Given the description of an element on the screen output the (x, y) to click on. 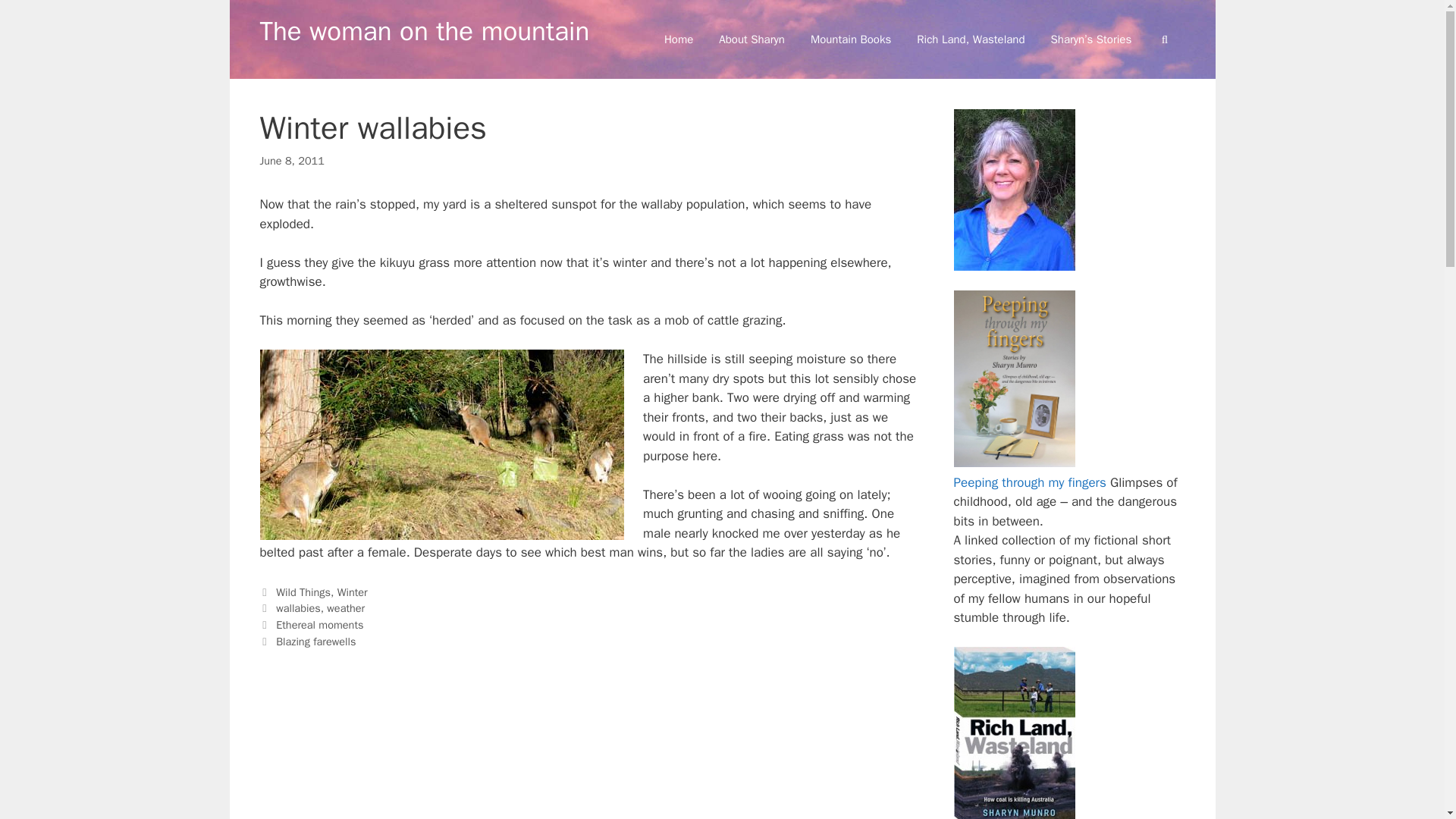
weather (345, 608)
winter-wallabies-2 (441, 444)
wallabies (298, 608)
Wild Things (303, 591)
Ethereal moments (319, 624)
Peeping through my fingers (1029, 482)
Home (678, 39)
Winter (352, 591)
About Sharyn (751, 39)
Blazing farewells (315, 641)
Mountain Books (850, 39)
The woman on the mountain (424, 30)
Rich Land, Wasteland (970, 39)
